Given the description of an element on the screen output the (x, y) to click on. 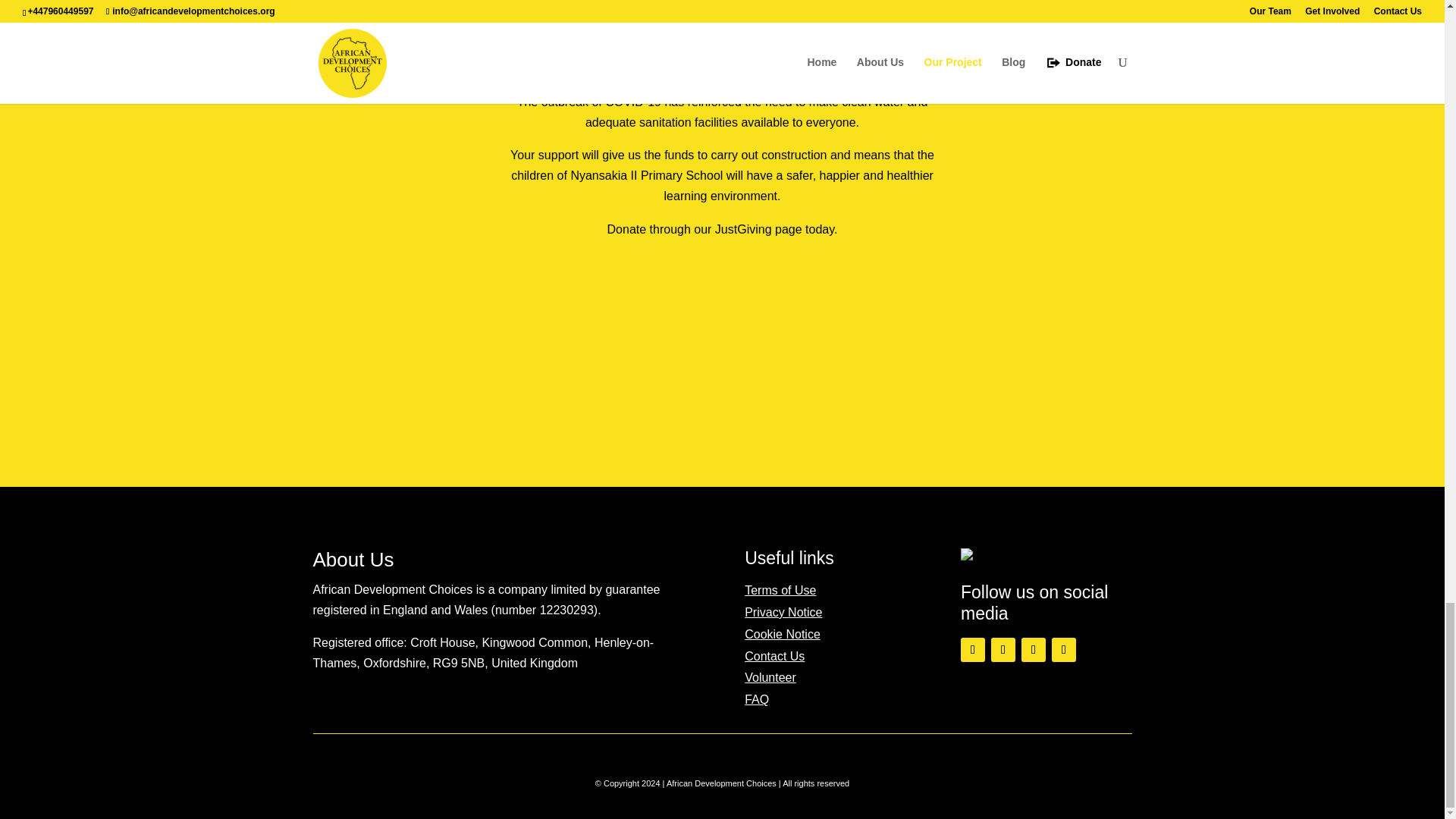
cropped-adc-logo.png (989, 553)
Contact Us (774, 656)
Privacy Notice (783, 612)
FAQ (756, 698)
Follow on X (1002, 649)
Volunteer (770, 676)
Follow on Facebook (972, 649)
Privacy Notice (783, 612)
FAQ (756, 698)
Cookie Notice (782, 634)
Follow on Instagram (1033, 649)
Contact Us (774, 656)
Cookie Notice (782, 634)
Terms of Use (779, 590)
Terms of Use (779, 590)
